Given the description of an element on the screen output the (x, y) to click on. 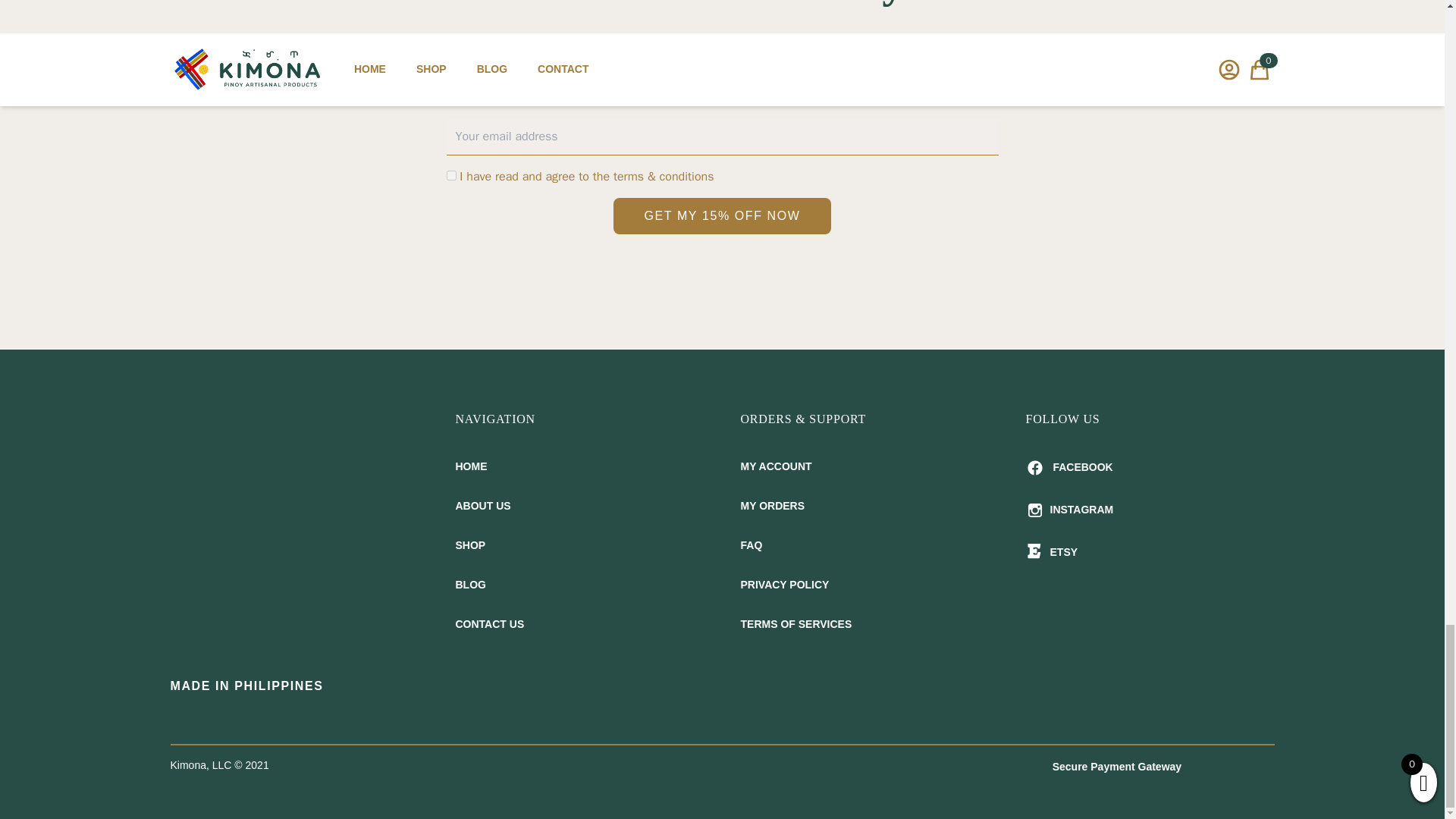
CONTACT US (578, 623)
HOME (578, 466)
Instagram - Kimona Pinoy (1149, 509)
1 (450, 175)
ABOUT US (578, 505)
Etsy - Kimona Pinoy (1149, 552)
Facebook - Kimona Pinoy (1149, 467)
SHOP (578, 545)
MY ACCOUNT (863, 466)
BLOG (578, 584)
